Given the description of an element on the screen output the (x, y) to click on. 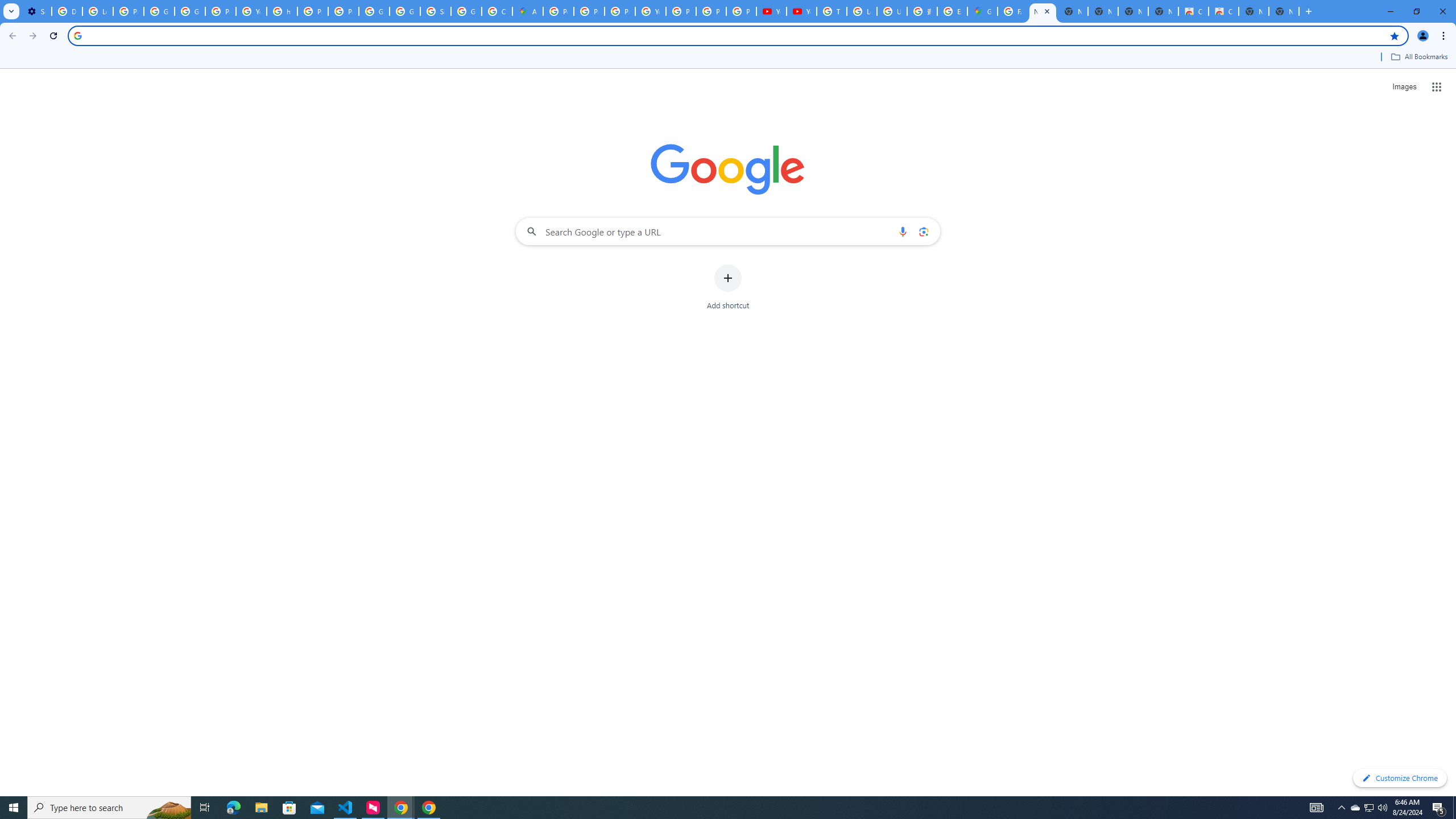
Search Google or type a URL (727, 230)
Privacy Checkup (740, 11)
Privacy Help Center - Policies Help (589, 11)
Privacy Help Center - Policies Help (619, 11)
Privacy Help Center - Policies Help (312, 11)
Sign in - Google Accounts (434, 11)
Tips & tricks for Chrome - Google Chrome Help (830, 11)
